Given the description of an element on the screen output the (x, y) to click on. 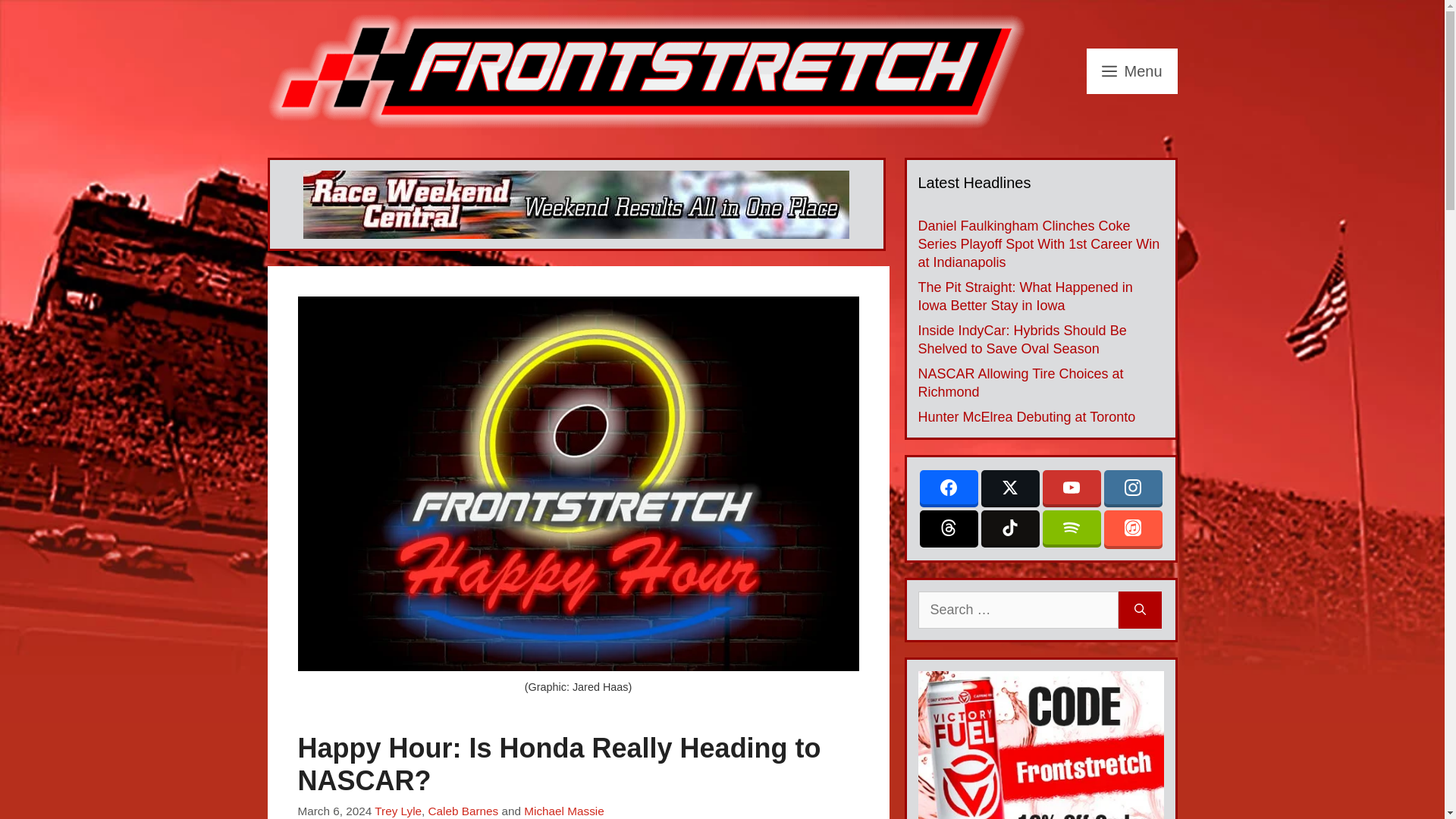
Trey Lyle (398, 810)
Menu (1131, 71)
Michael Massie (564, 810)
Caleb Barnes (463, 810)
